Given the description of an element on the screen output the (x, y) to click on. 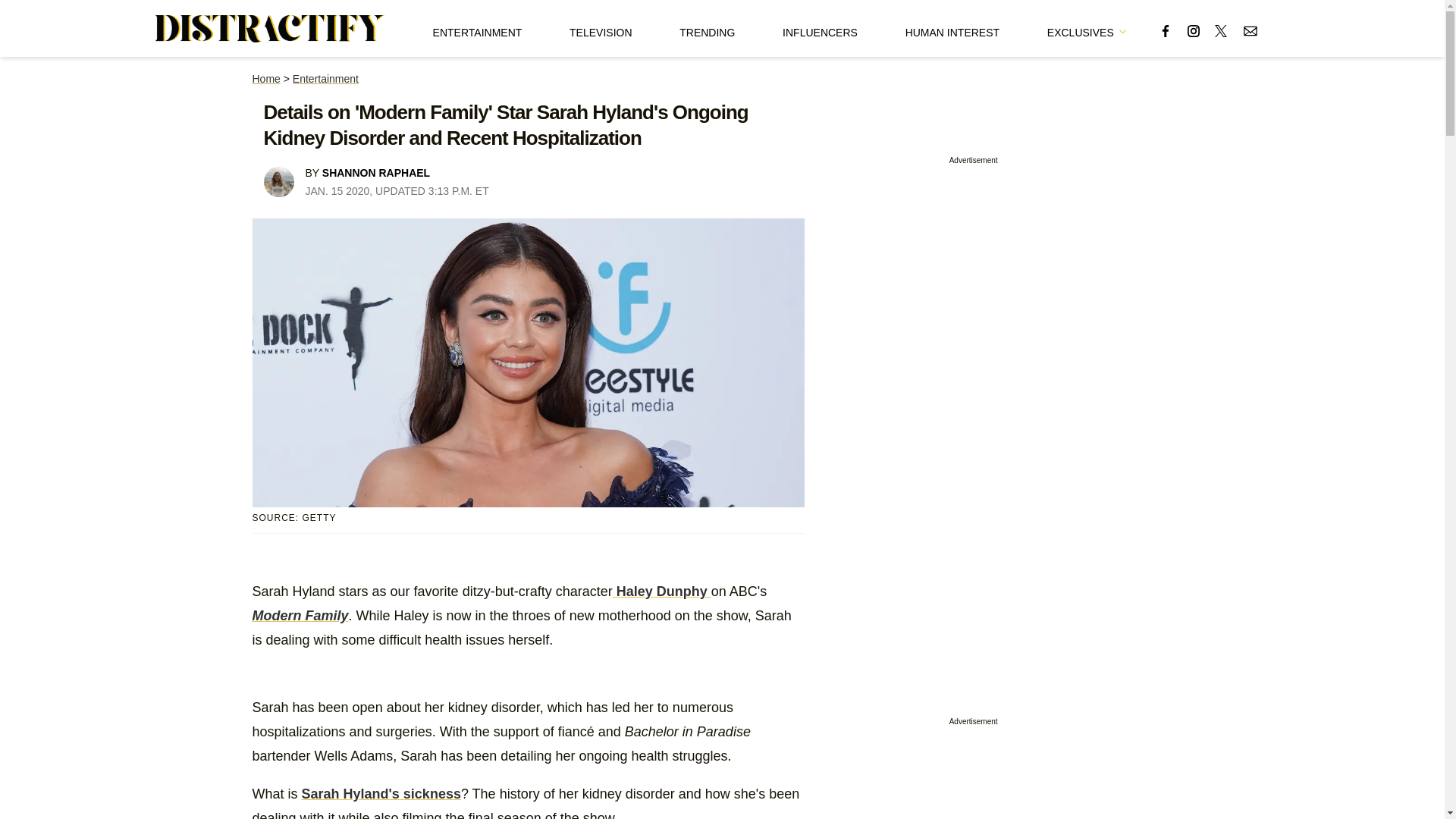
TRENDING (707, 27)
Home (265, 78)
Sarah Hyland's sickness (381, 793)
ENTERTAINMENT (477, 27)
LINK TO X (1220, 30)
TELEVISION (600, 27)
HUMAN INTEREST (951, 27)
Modern Family (299, 615)
Entertainment (325, 78)
LINK TO EMAIL SUBSCRIBE (1250, 30)
INFLUENCERS (820, 27)
LINK TO INSTAGRAM (1193, 30)
LINK TO FACEBOOK (1165, 30)
SHANNON RAPHAEL (375, 173)
Haley Dunphy (661, 590)
